Given the description of an element on the screen output the (x, y) to click on. 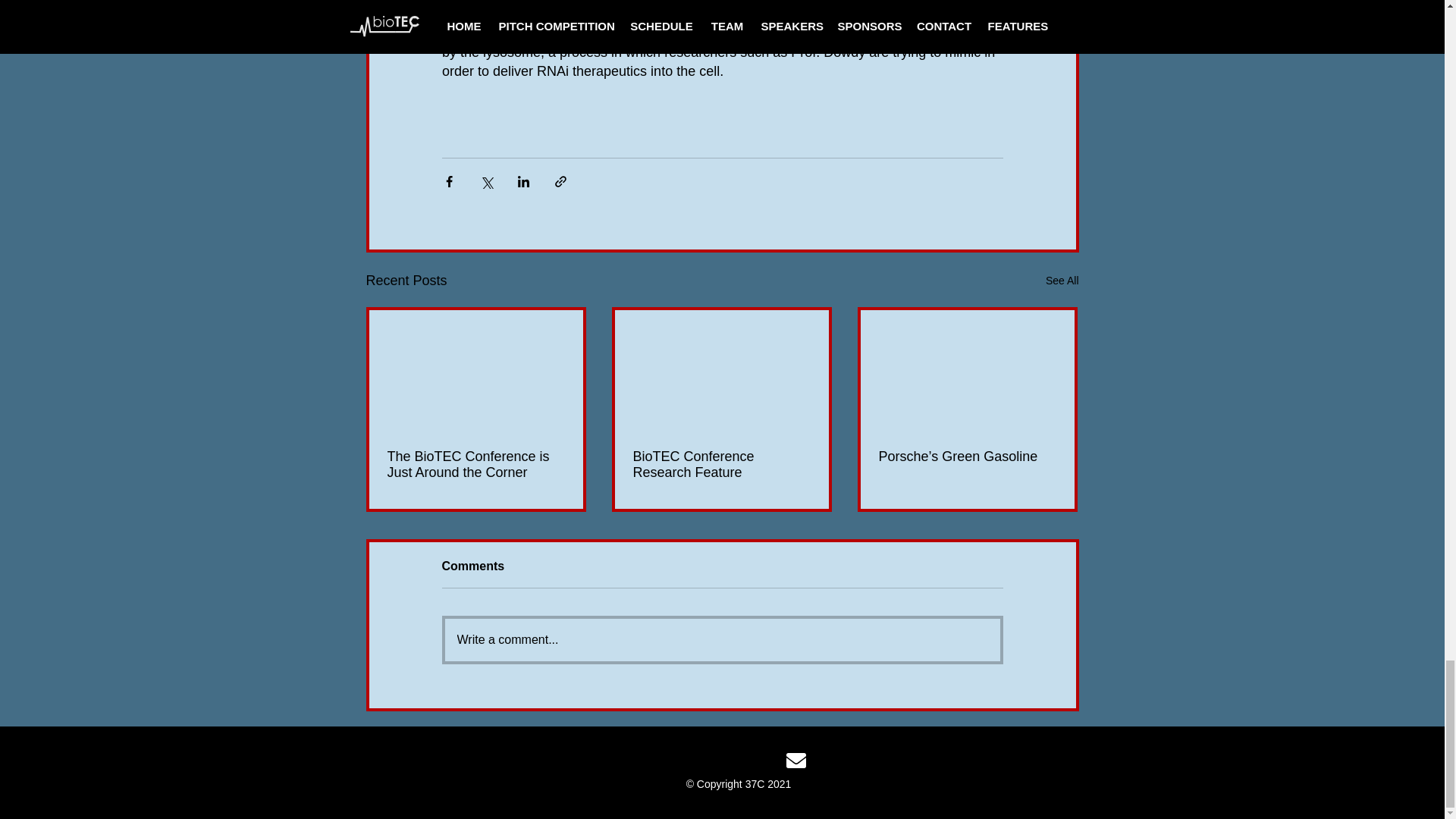
See All (1061, 280)
The BioTEC Conference is Just Around the Corner (475, 464)
Write a comment... (721, 639)
BioTEC Conference Research Feature (720, 464)
